Given the description of an element on the screen output the (x, y) to click on. 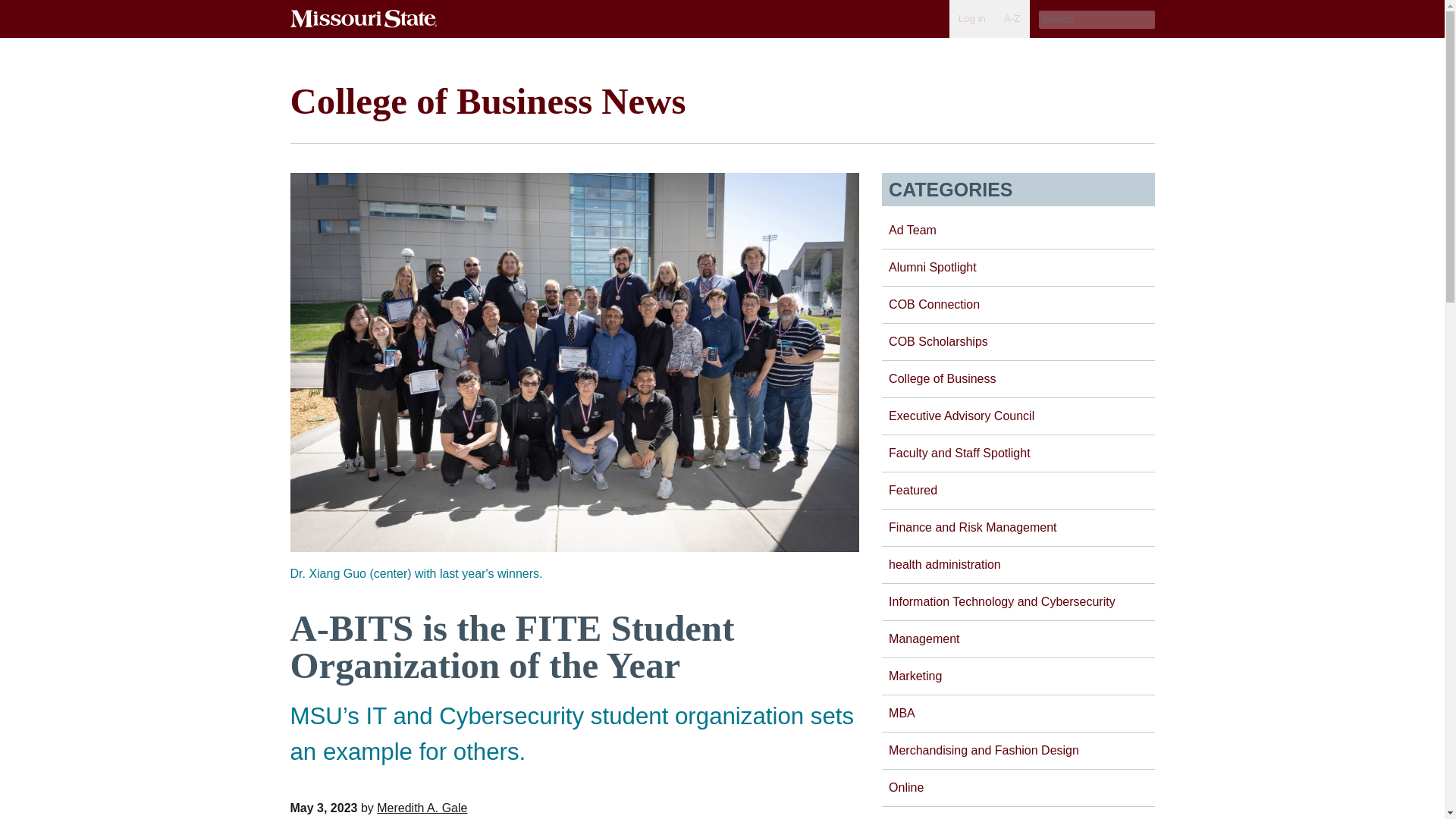
A-Z (1011, 18)
College of Business News (487, 101)
Log in (971, 18)
Meredith A. Gale (422, 807)
